Given the description of an element on the screen output the (x, y) to click on. 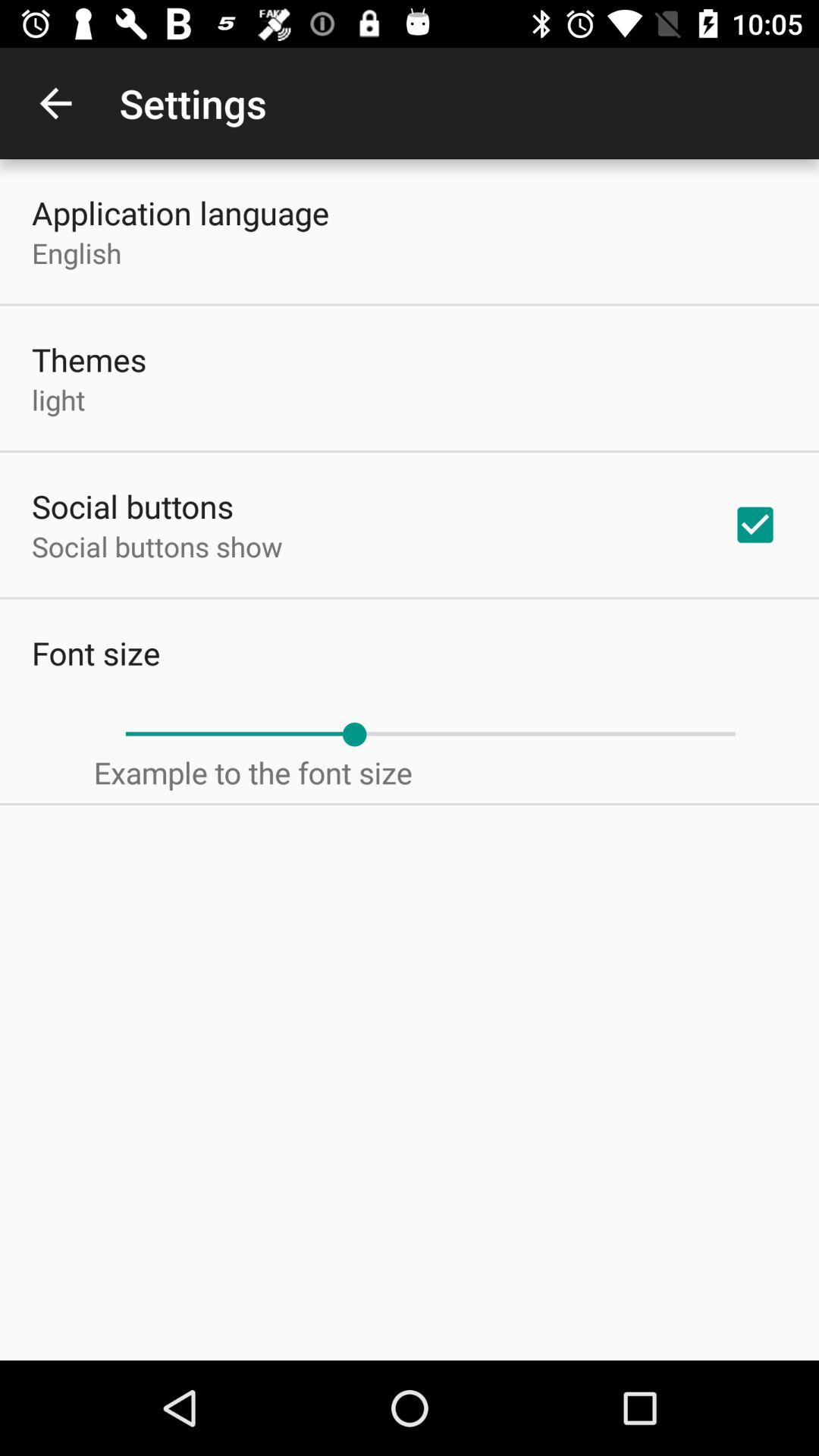
turn off the application language icon (180, 212)
